Given the description of an element on the screen output the (x, y) to click on. 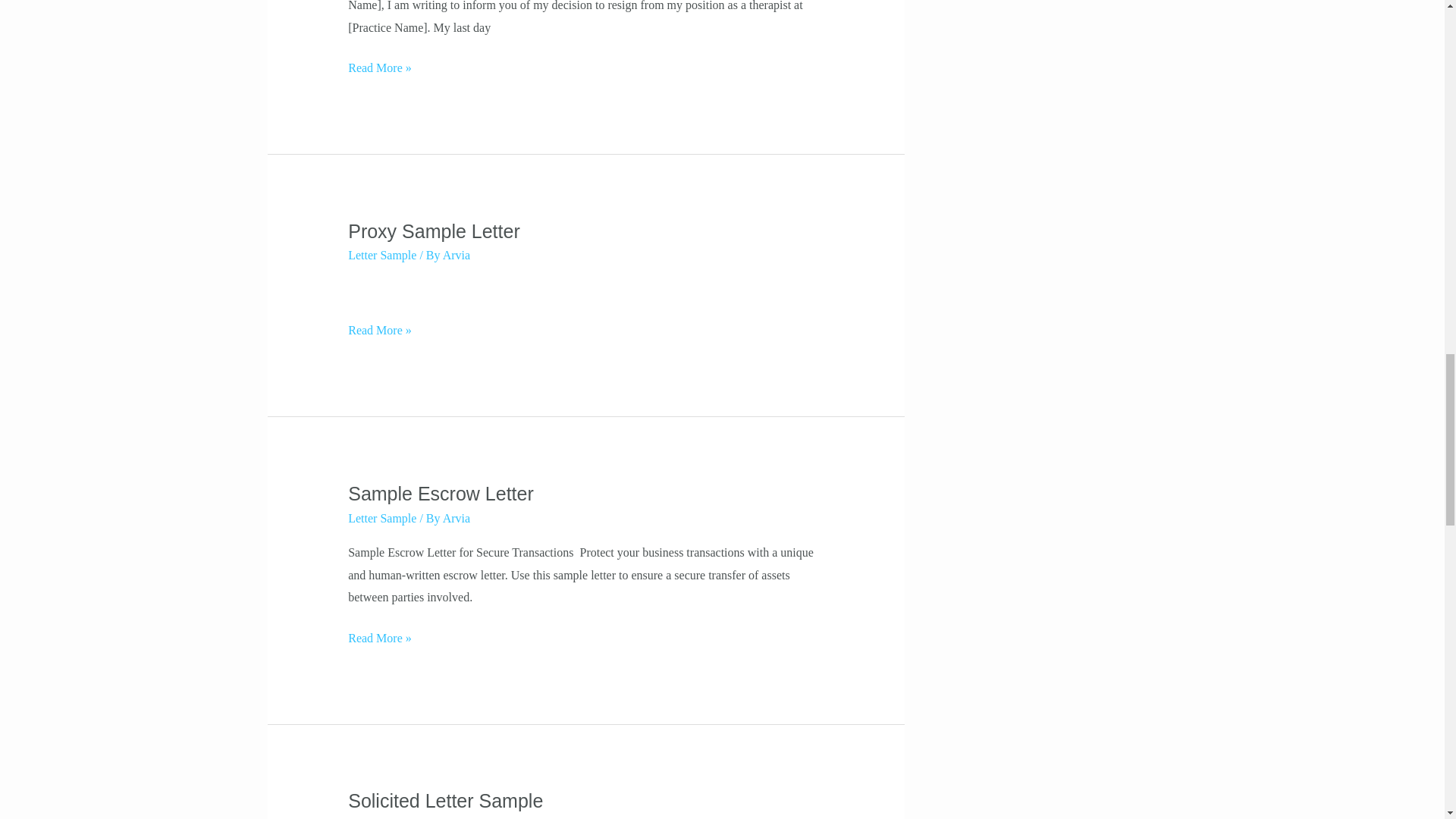
View all posts by Arvia (456, 254)
Proxy Sample Letter  (435, 230)
Arvia (456, 254)
Letter Sample (381, 517)
Letter Sample (381, 254)
Sample Escrow Letter (440, 493)
View all posts by Arvia (456, 517)
